Given the description of an element on the screen output the (x, y) to click on. 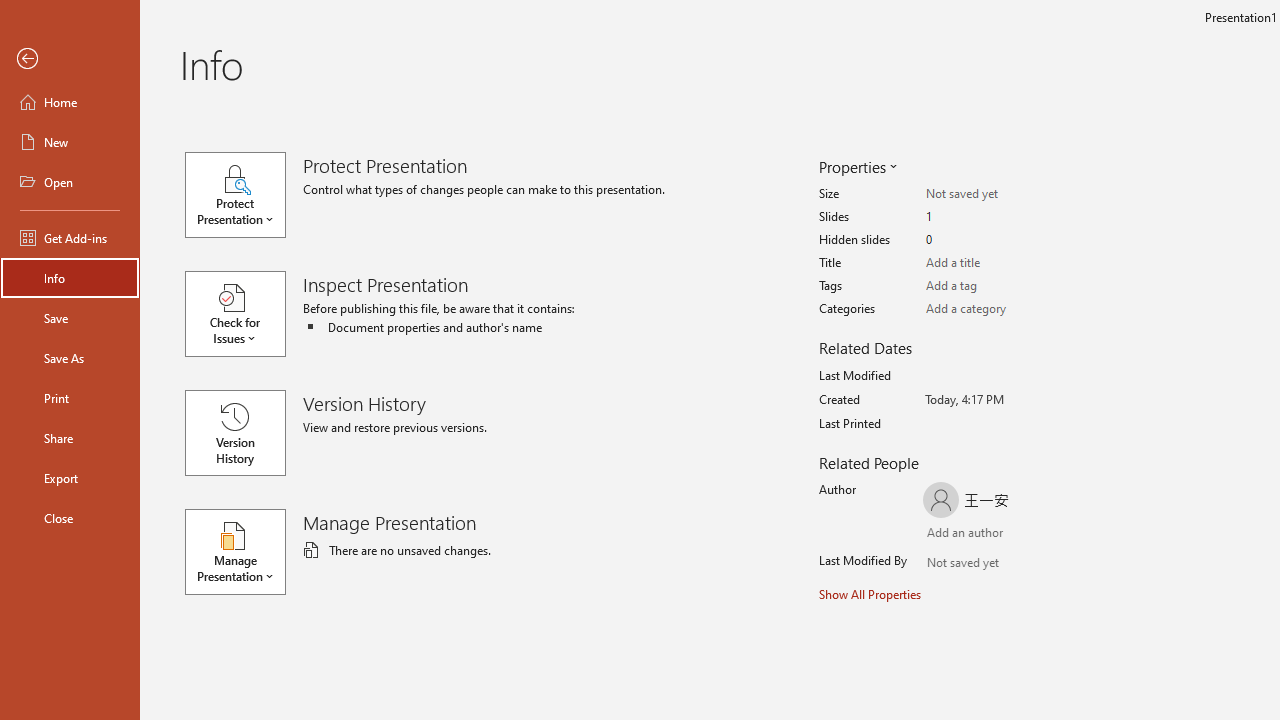
Export (69, 477)
Get Add-ins (69, 237)
Check for Issues (244, 313)
Title (1003, 263)
Version History (235, 432)
Show All Properties (870, 593)
Categories (1003, 309)
Size (1003, 194)
Properties (856, 166)
Print (69, 398)
Manage Presentation (244, 551)
